Given the description of an element on the screen output the (x, y) to click on. 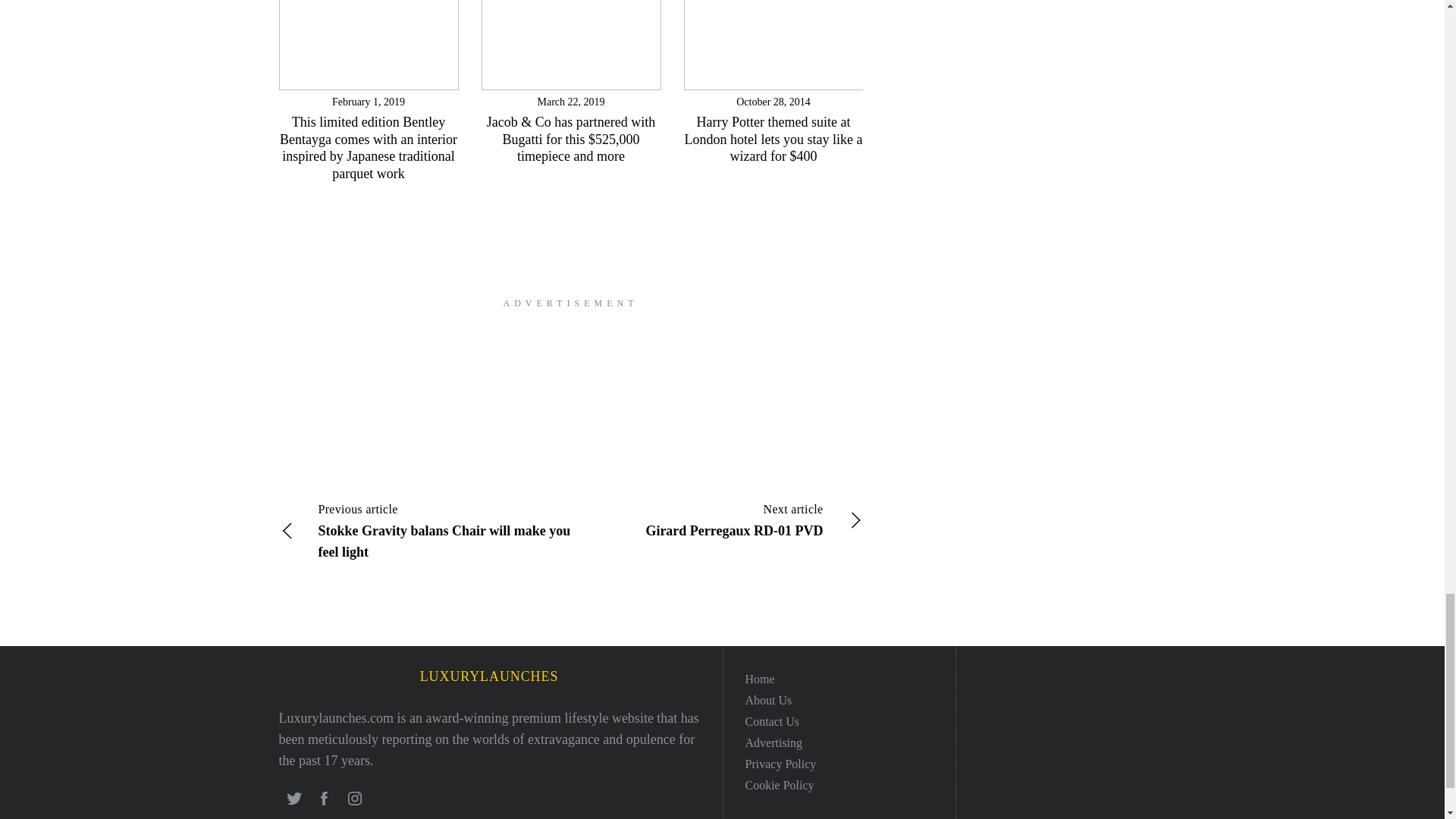
About Us (768, 698)
Privacy Policy (779, 762)
Contact us (771, 720)
Advertising (773, 741)
Home (759, 677)
Cookie Policy (778, 784)
